Given the description of an element on the screen output the (x, y) to click on. 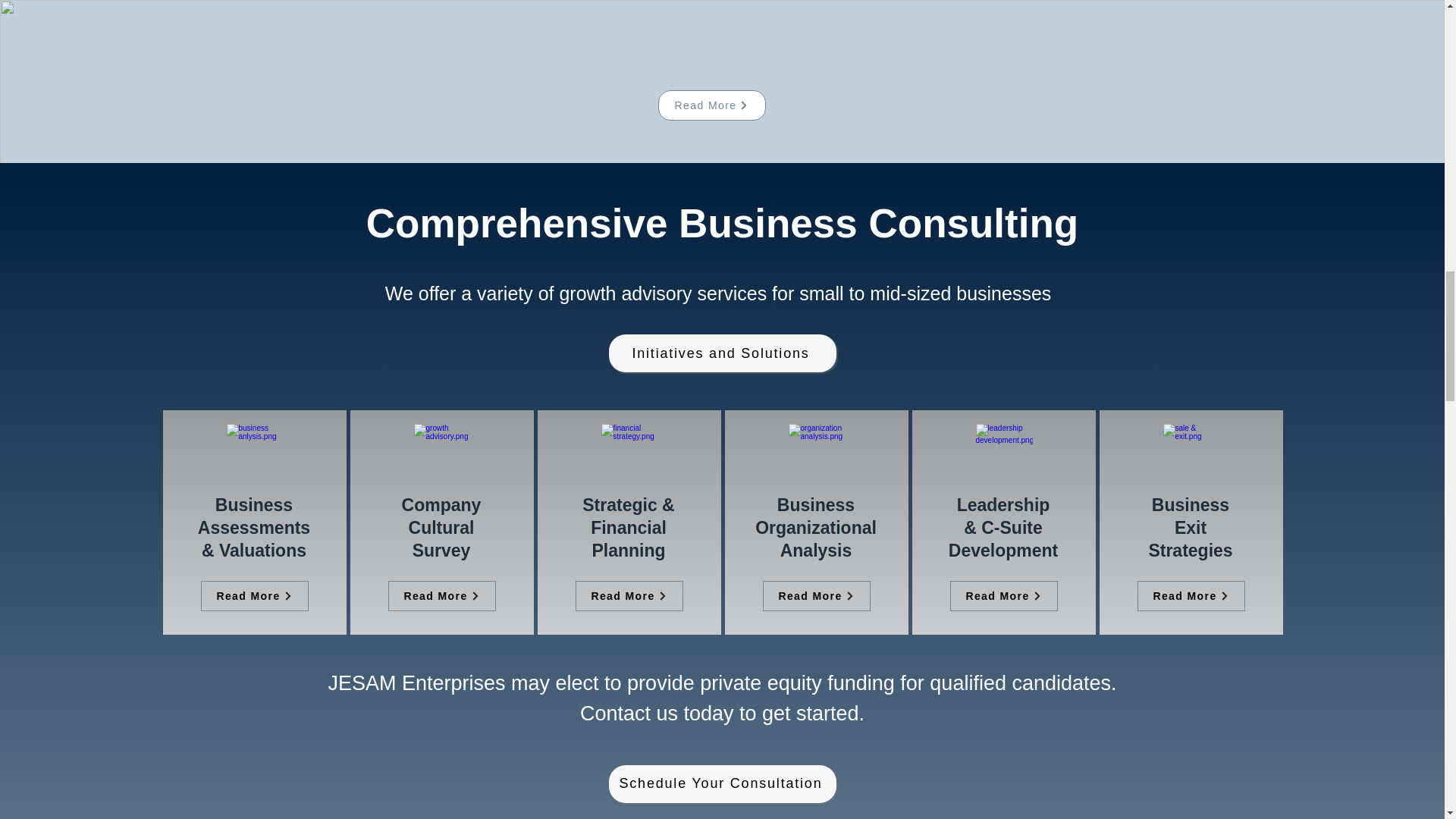
Assessments (815, 527)
Read More (254, 527)
Read More (442, 595)
Read More (711, 105)
Business (253, 595)
Read More (441, 527)
Read More (253, 505)
Initiatives and Solutions (816, 595)
